Given the description of an element on the screen output the (x, y) to click on. 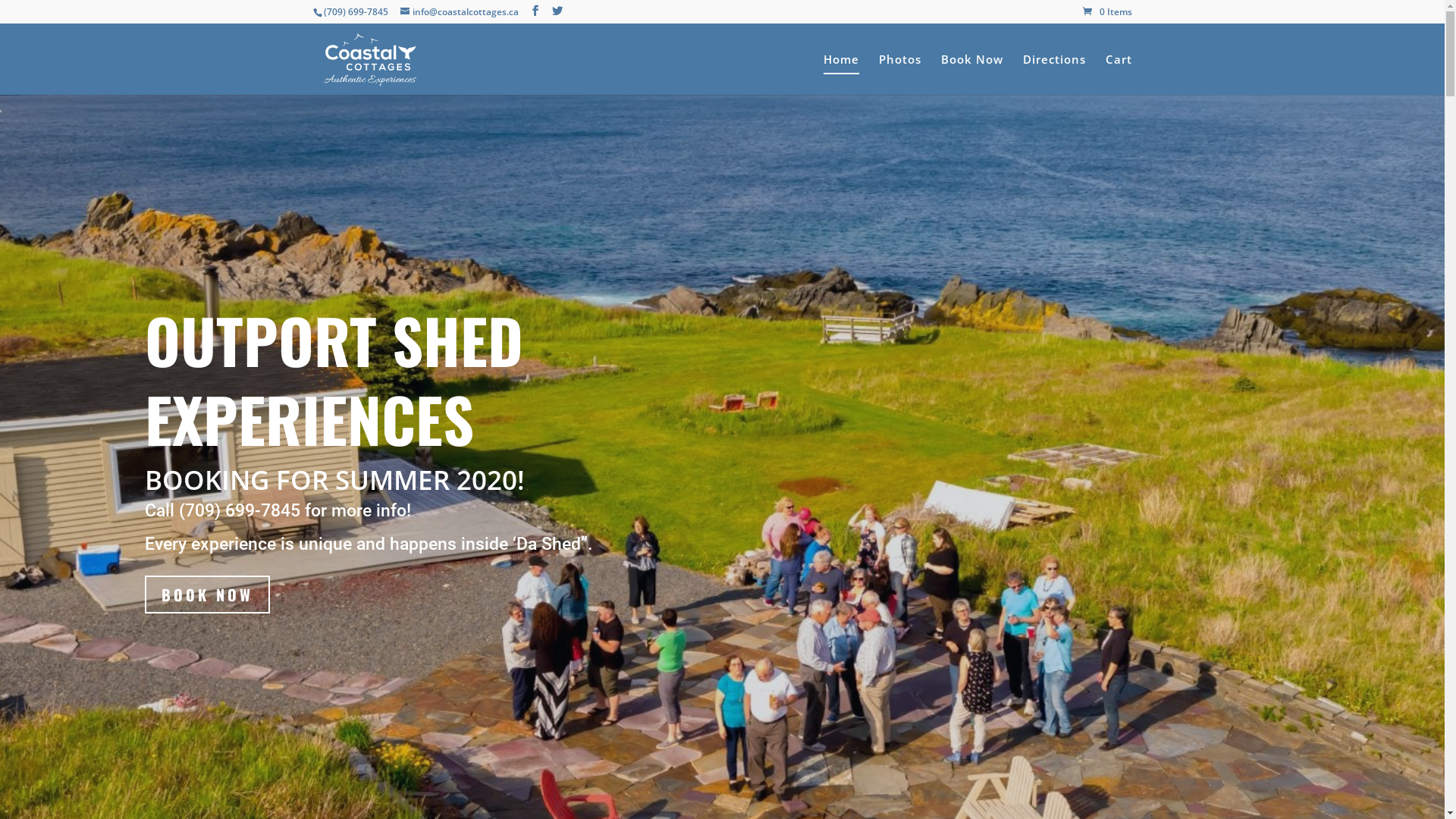
0 Items Element type: text (1107, 11)
Cart Element type: text (1118, 73)
Directions Element type: text (1053, 73)
Photos Element type: text (899, 73)
(709) 699-7845 Element type: text (239, 510)
Home Element type: text (841, 73)
info@coastalcottages.ca Element type: text (459, 11)
Book Now Element type: text (971, 73)
BOOK NOW Element type: text (206, 594)
